Given the description of an element on the screen output the (x, y) to click on. 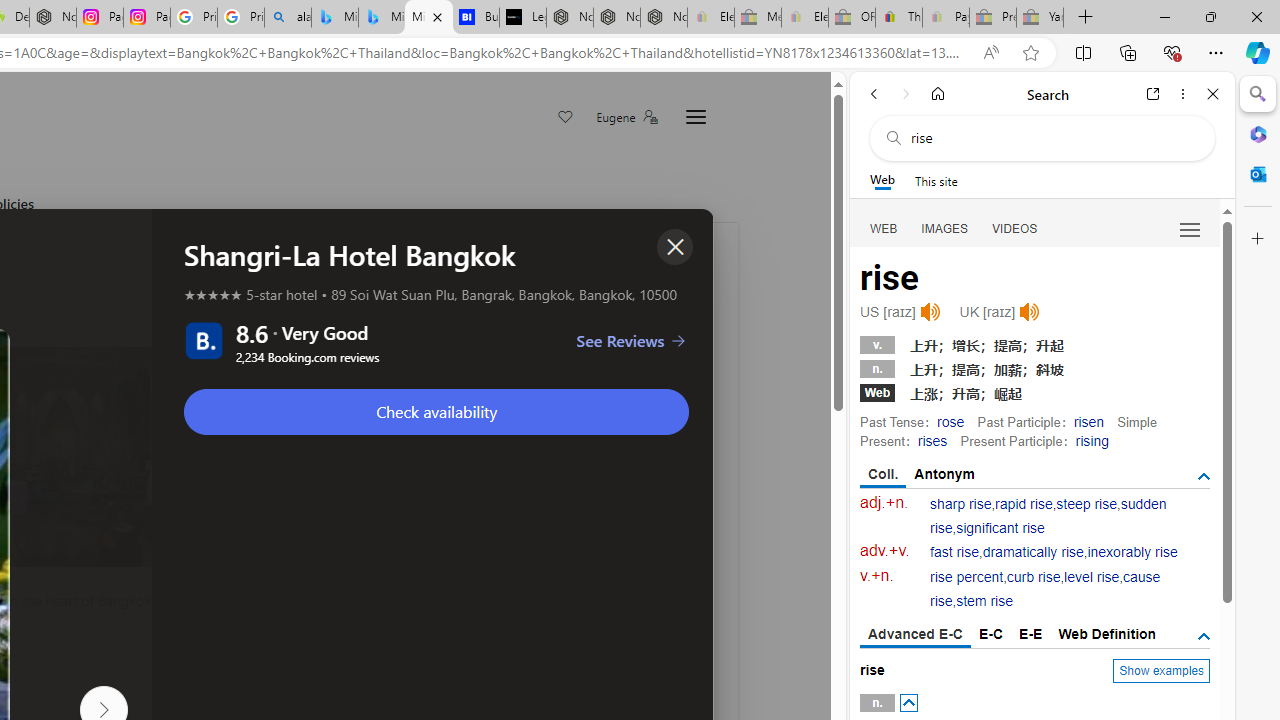
Coll. (883, 475)
rises (932, 440)
curb rise (1033, 577)
Web Definition (1106, 633)
level rise (1091, 577)
Antonym (945, 473)
AutomationID: tgsb (1203, 476)
dramatically rise (1032, 552)
rose (950, 421)
